Given the description of an element on the screen output the (x, y) to click on. 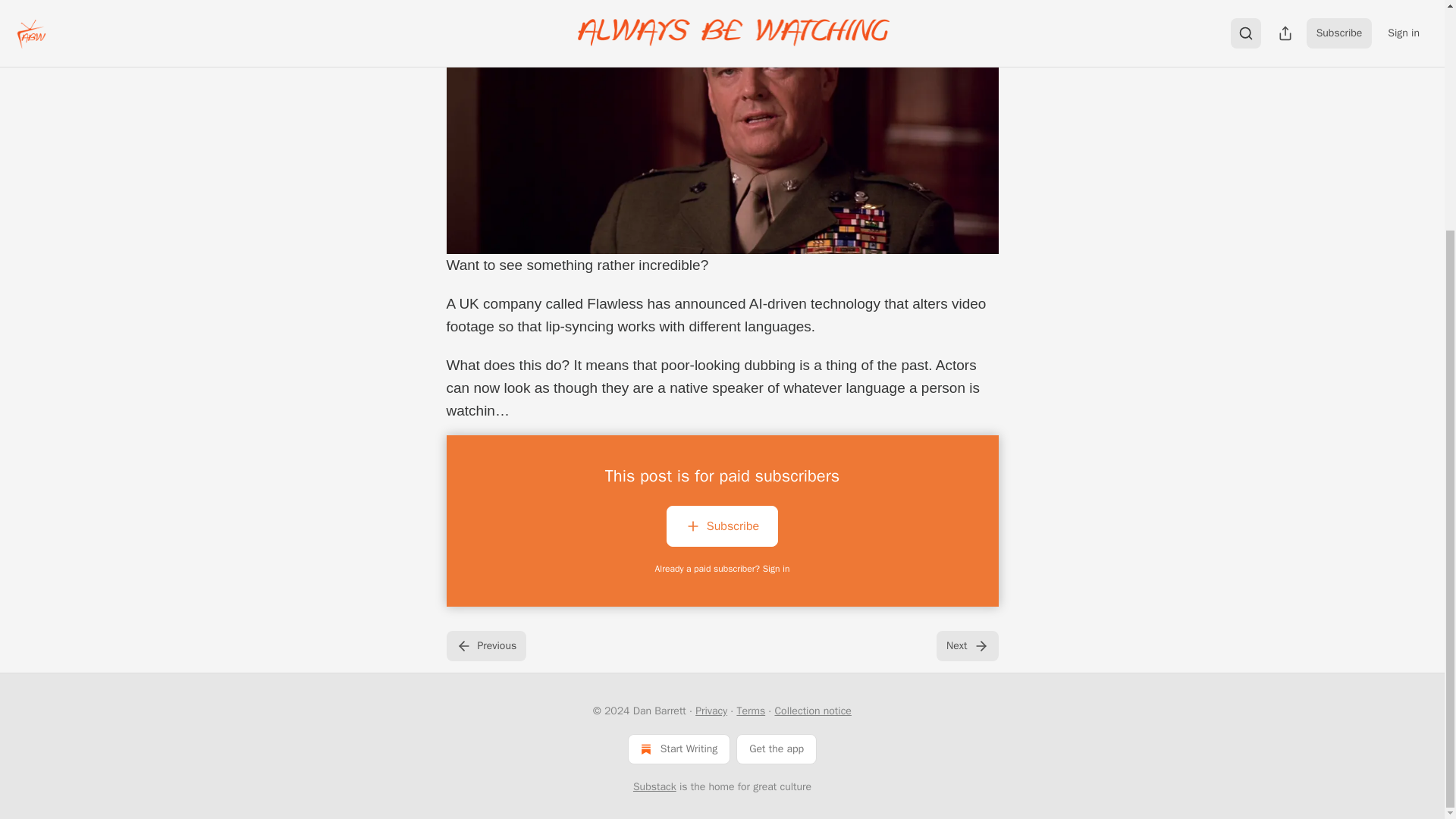
Subscribe (721, 526)
Substack (655, 786)
Previous (485, 645)
Next (966, 645)
Start Writing (678, 748)
Subscribe (721, 529)
Get the app (776, 748)
Terms (750, 710)
Collection notice (812, 710)
Privacy (710, 710)
Already a paid subscriber? Sign in (722, 568)
